Given the description of an element on the screen output the (x, y) to click on. 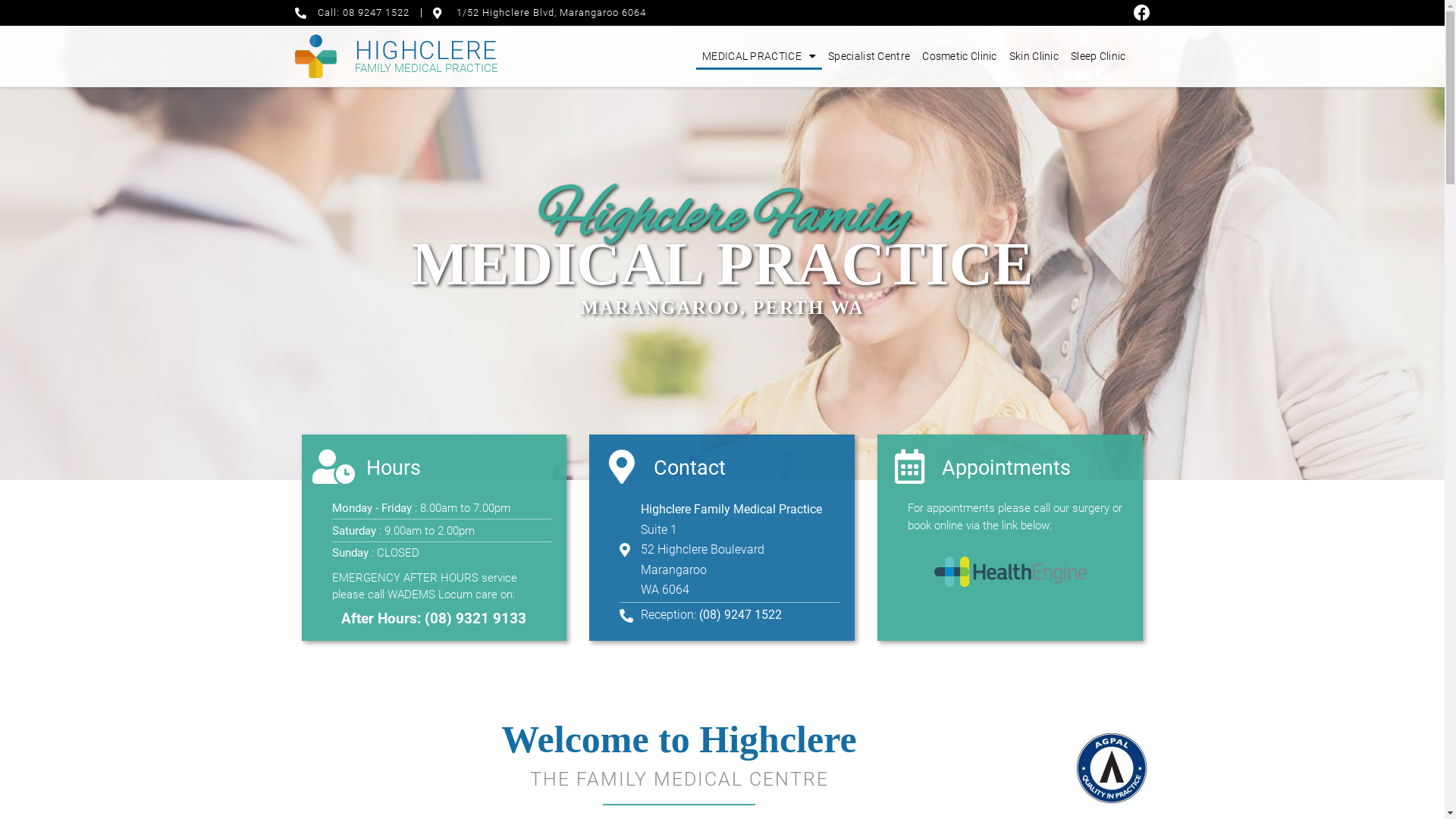
After Hours: (08) 9321 9133 Element type: text (433, 618)
Reception: (08) 9247 1522 Element type: text (729, 614)
Sleep Clinic Element type: text (1098, 55)
Specialist Centre Element type: text (869, 55)
Skin Clinic Element type: text (1033, 55)
Cosmetic Clinic Element type: text (959, 55)
MEDICAL PRACTICE Element type: text (759, 55)
FAMILY MEDICAL PRACTICE Element type: text (426, 68)
HIGHCLERE Element type: text (426, 50)
